Given the description of an element on the screen output the (x, y) to click on. 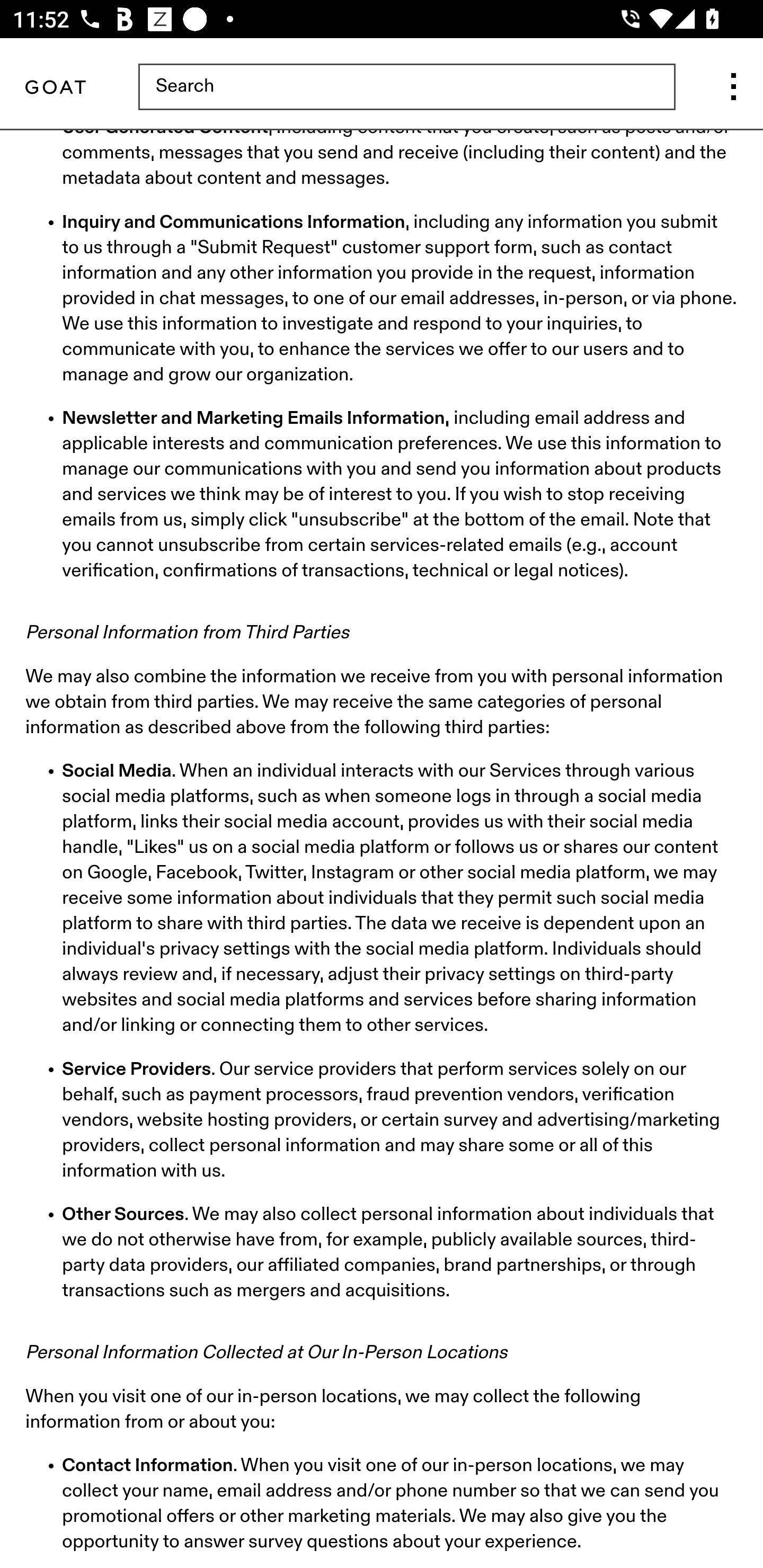
Search (406, 88)
menu (733, 88)
Goat Logo (55, 89)
